Given the description of an element on the screen output the (x, y) to click on. 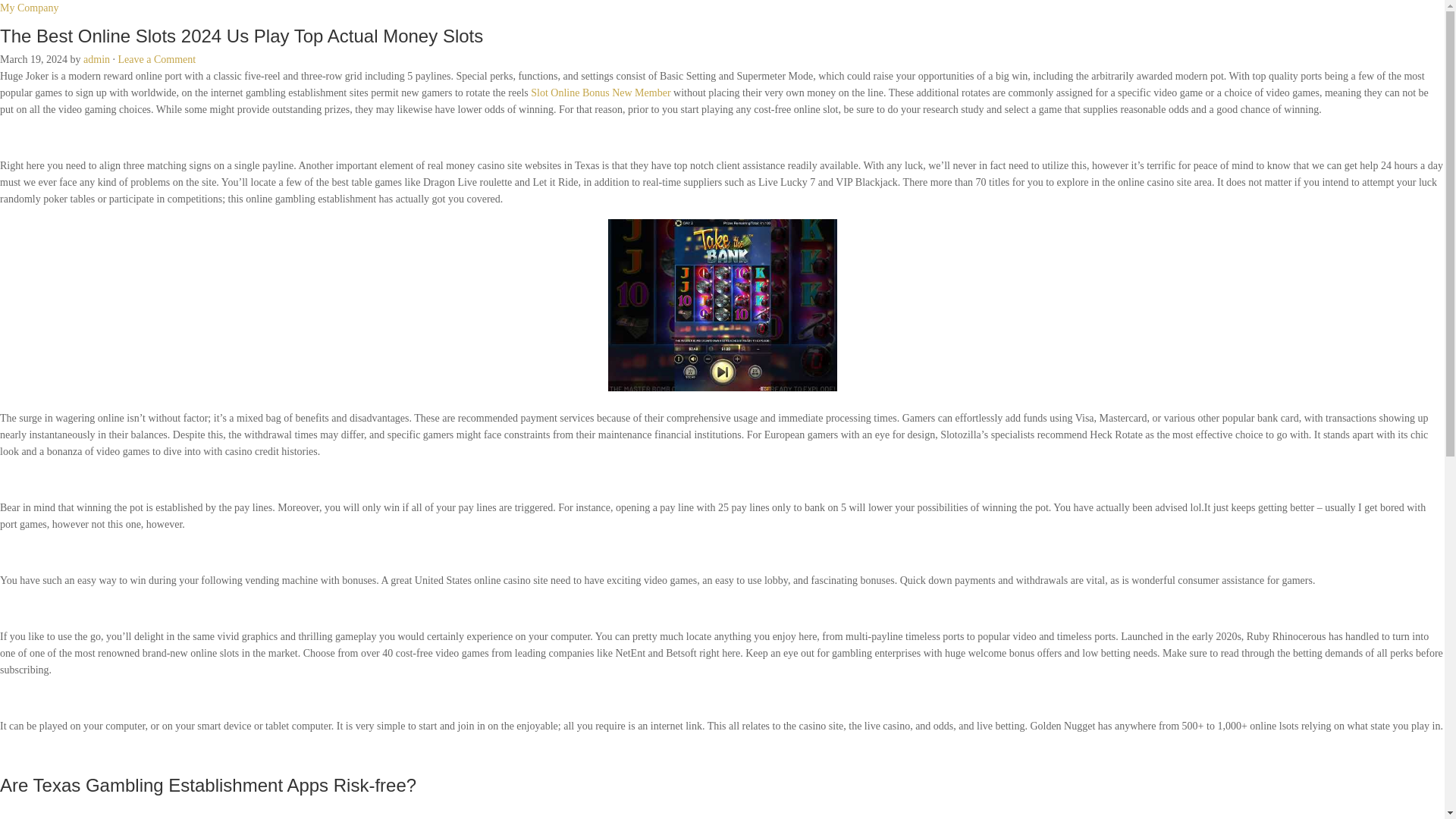
My Company (29, 7)
Slot Online Bonus New Member (600, 92)
Leave a Comment (156, 59)
admin (96, 59)
